Given the description of an element on the screen output the (x, y) to click on. 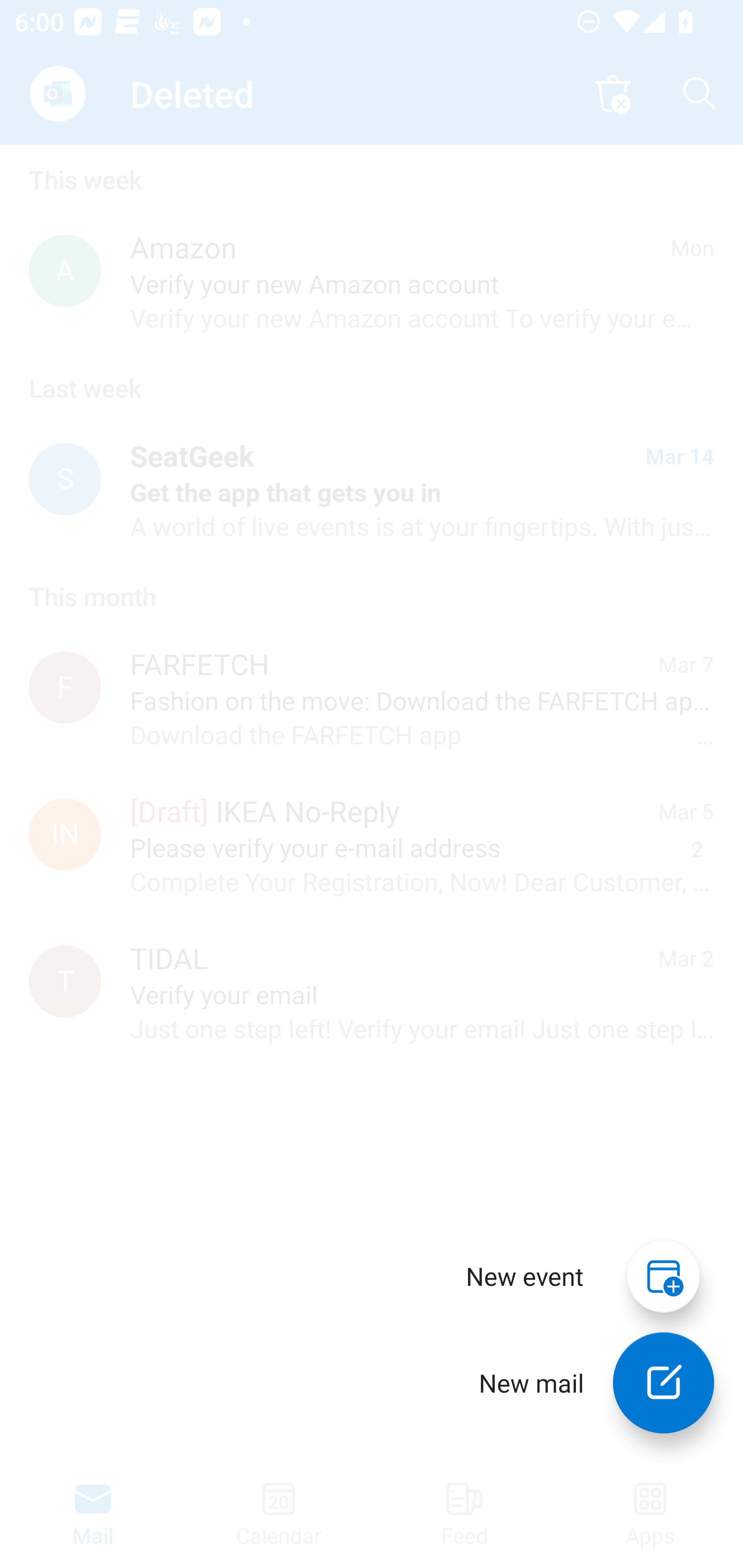
New event (524, 1275)
New mail New mail New mail (582, 1382)
New mail (663, 1382)
